Given the description of an element on the screen output the (x, y) to click on. 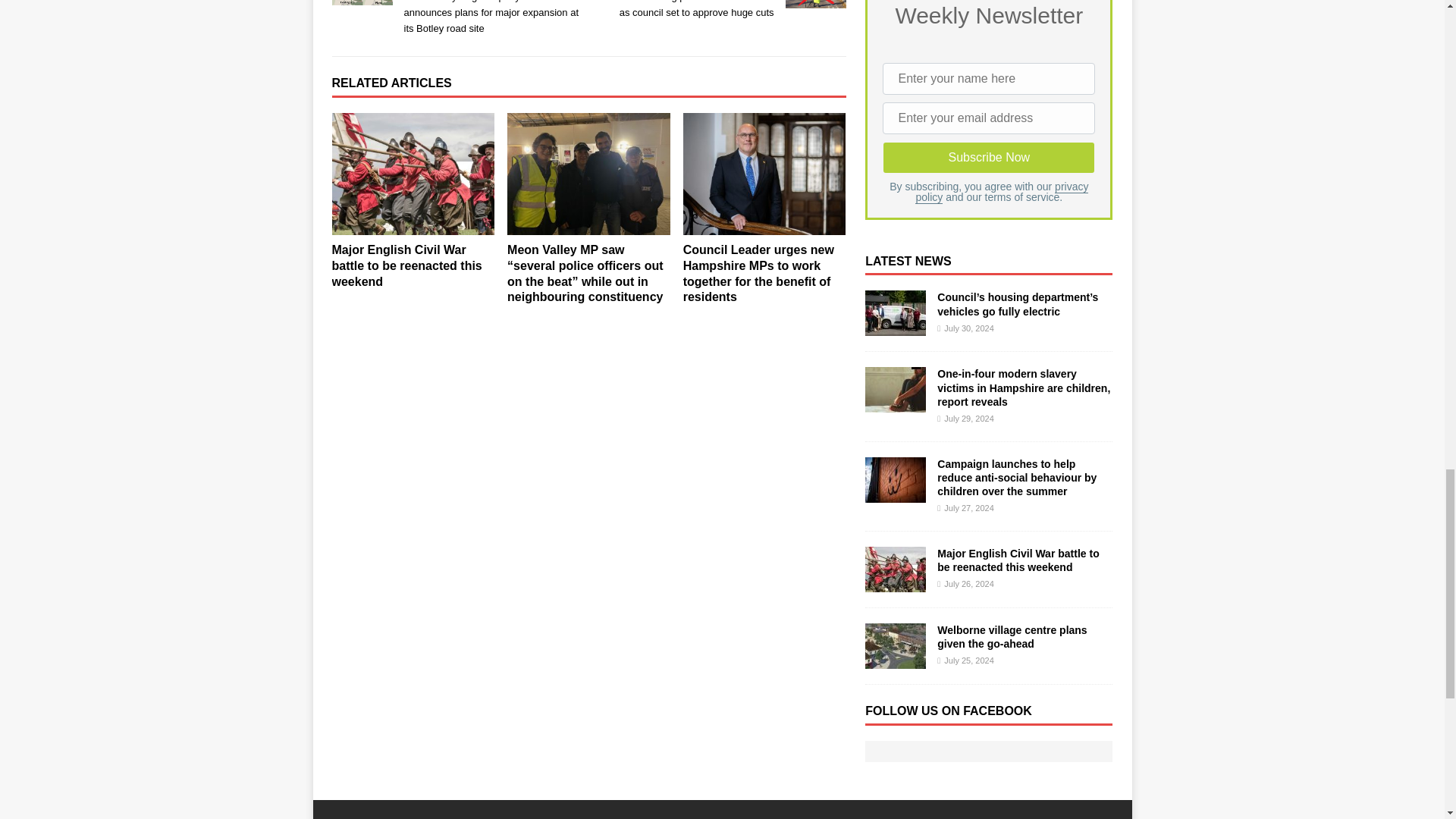
Subscribe Now (988, 157)
Major English Civil War battle to be reenacted this weekend (406, 265)
Major English Civil War battle to be reenacted this weekend (413, 174)
